Given the description of an element on the screen output the (x, y) to click on. 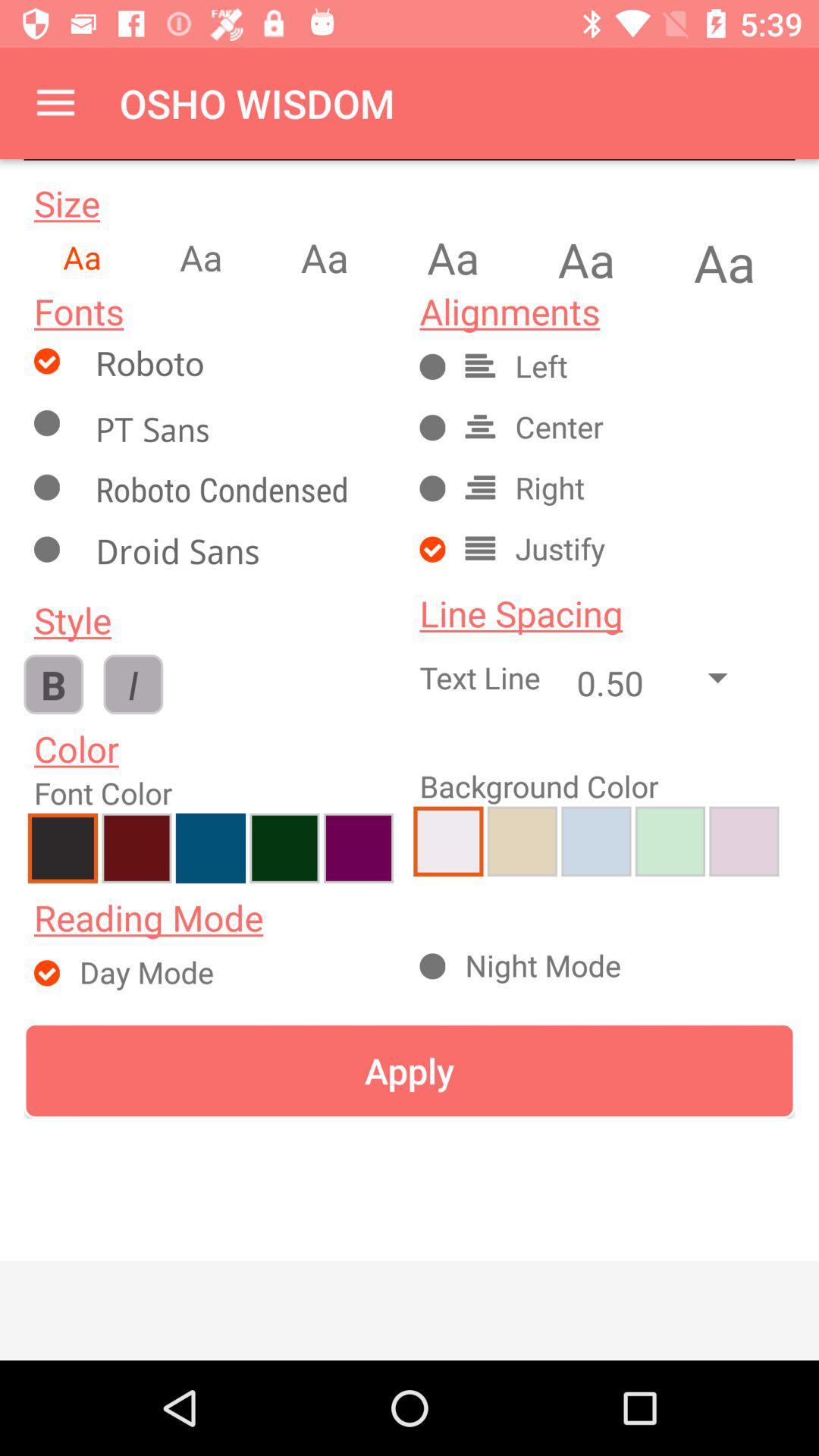
use the fifth square from left to make the font color purple (358, 848)
